Given the description of an element on the screen output the (x, y) to click on. 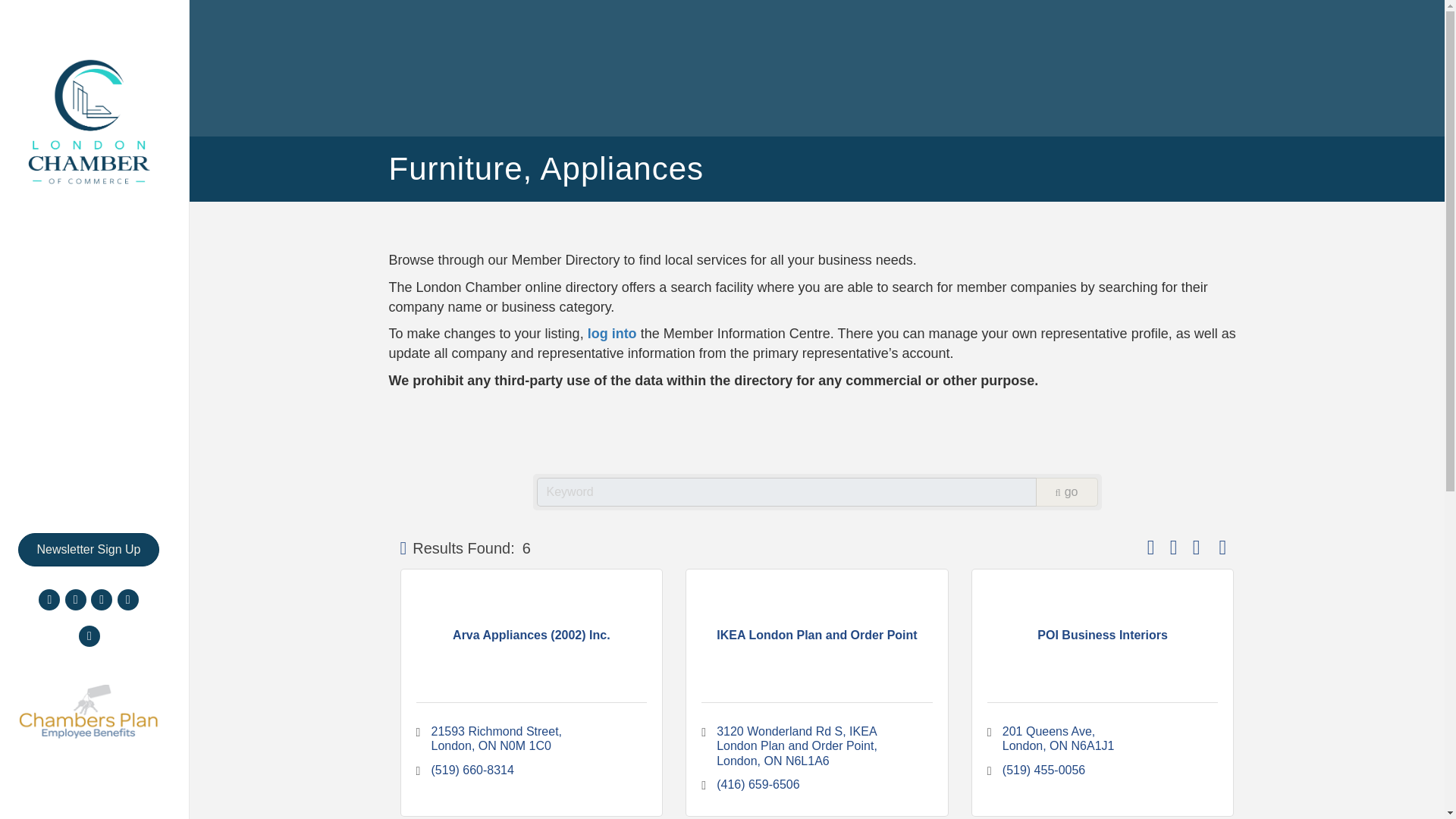
Newsletter Sign Up (88, 549)
